Given the description of an element on the screen output the (x, y) to click on. 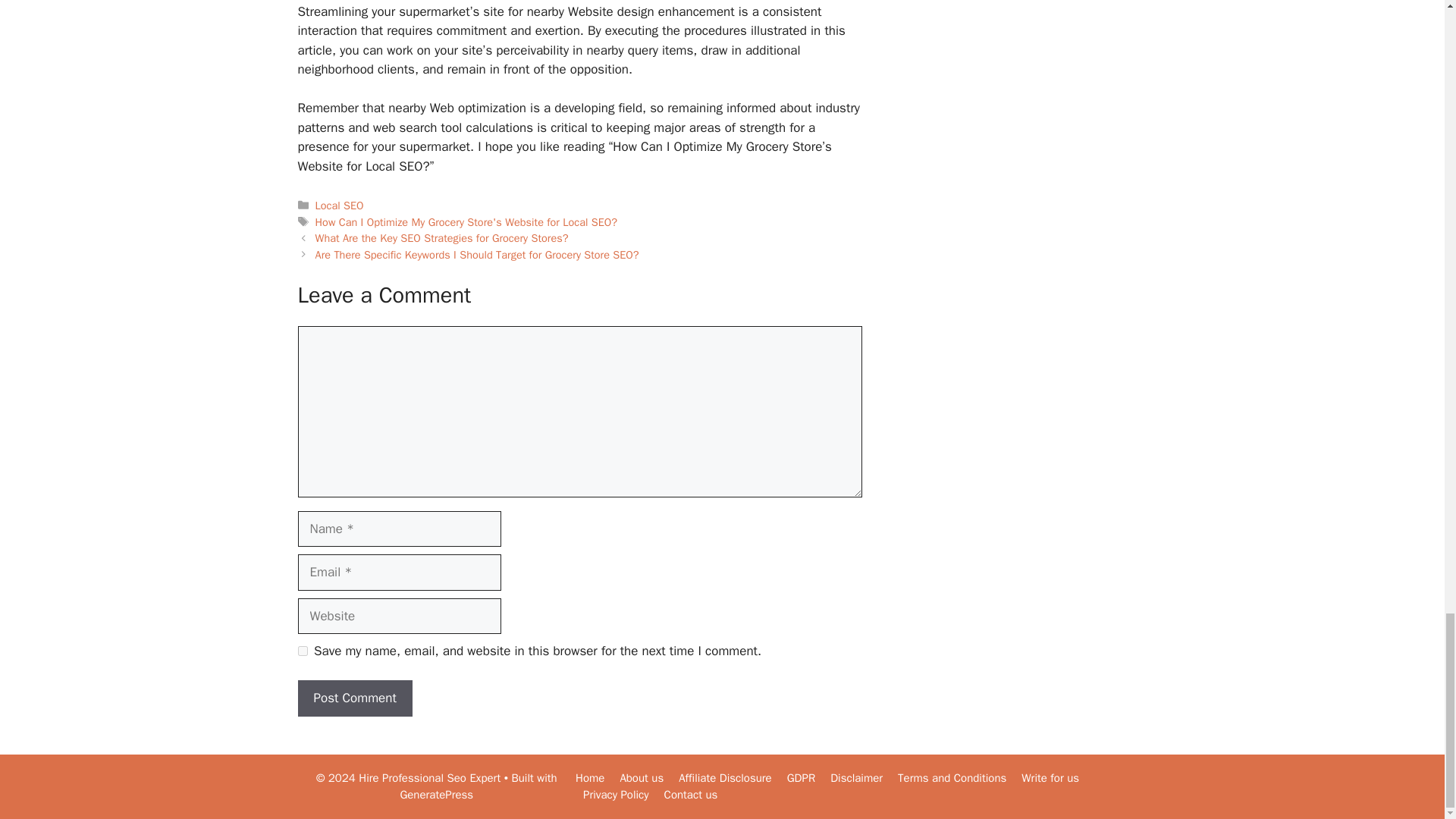
Local SEO (339, 205)
About us (641, 777)
Terms and Conditions (952, 777)
Affiliate Disclosure (724, 777)
Write for us (1050, 777)
Disclaimer (855, 777)
Home (589, 777)
yes (302, 651)
What Are the Key SEO Strategies for Grocery Stores? (442, 237)
How Can I Optimize My Grocery Store's Website for Local SEO? (466, 222)
Contact us (690, 794)
GDPR (801, 777)
GeneratePress (435, 794)
Post Comment (354, 698)
